Given the description of an element on the screen output the (x, y) to click on. 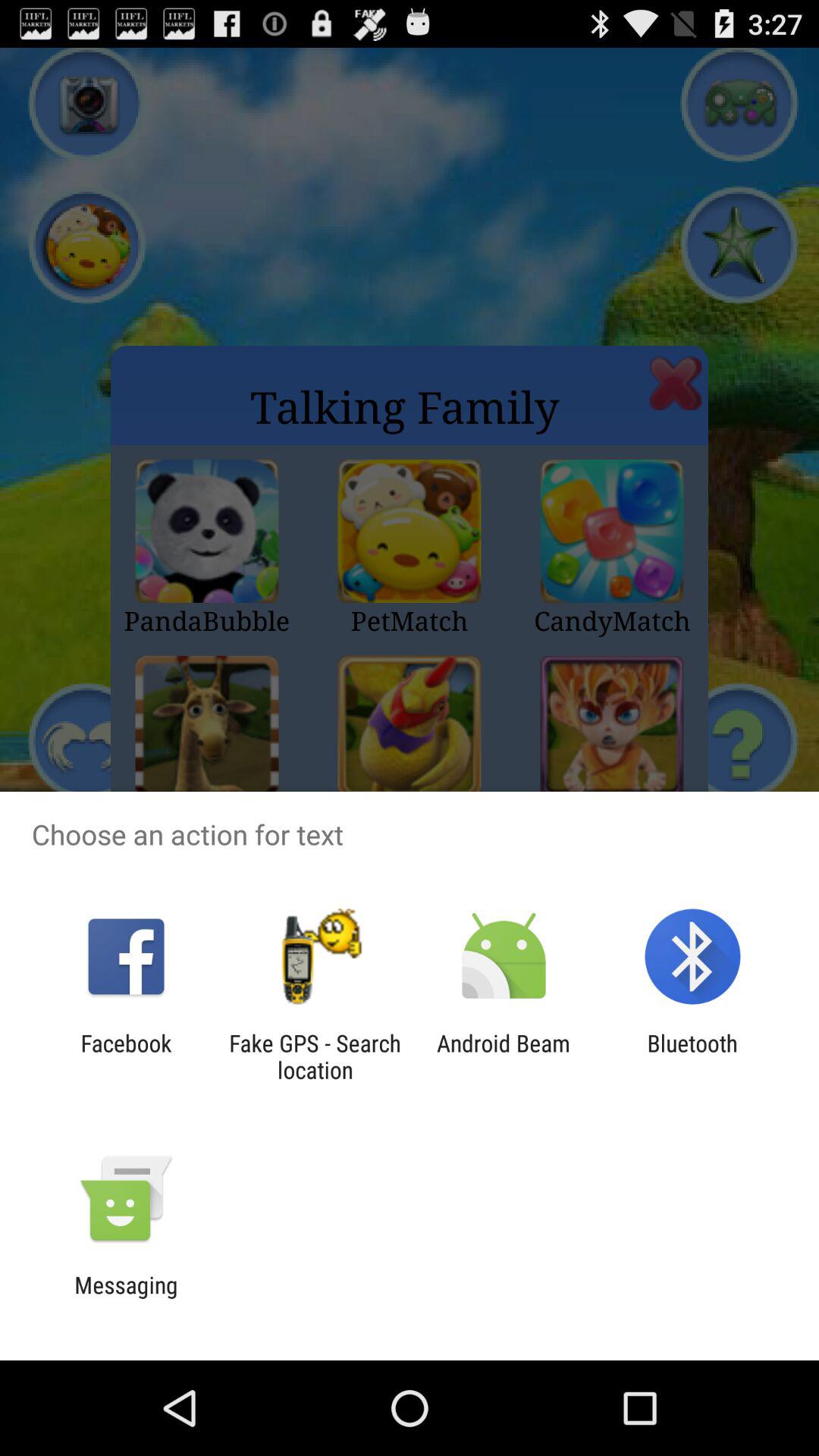
turn on the item next to android beam icon (692, 1056)
